Given the description of an element on the screen output the (x, y) to click on. 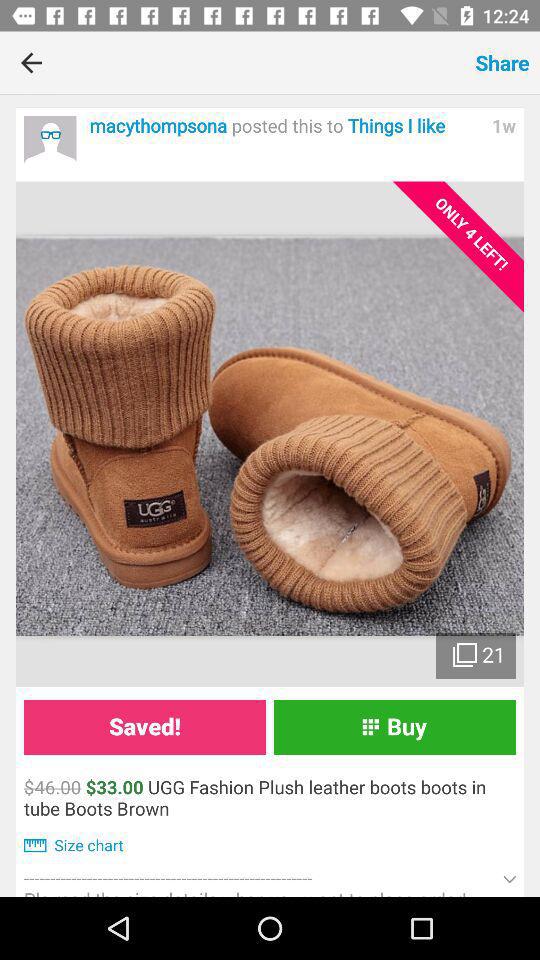
open photo gallery (269, 433)
